Given the description of an element on the screen output the (x, y) to click on. 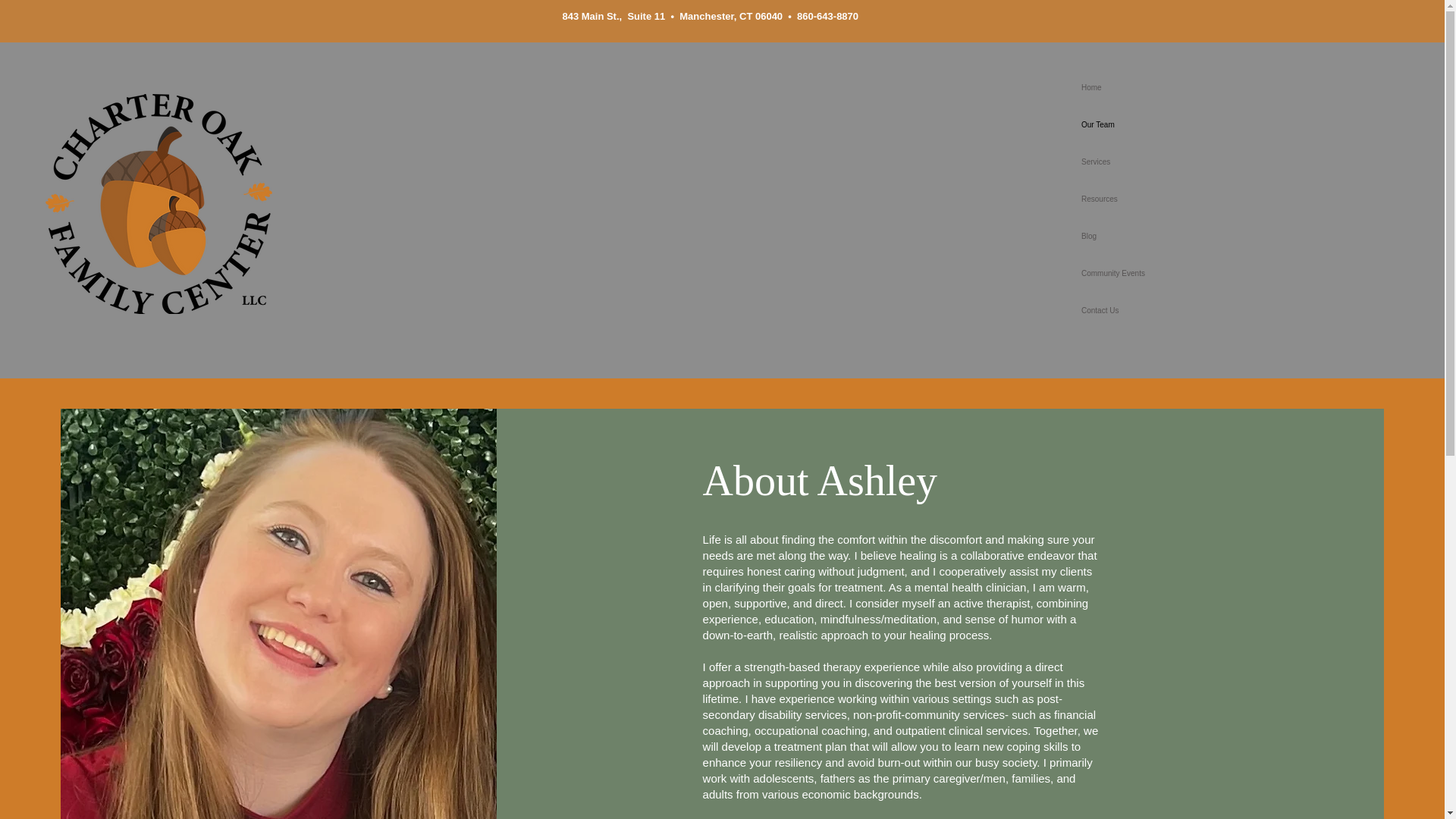
860-643-8870 (827, 16)
Home (1157, 87)
Community Events (1157, 272)
Resources (1157, 198)
Blog (1157, 235)
Contact Us (1157, 310)
Services (1157, 161)
Our Team (1157, 124)
